Given the description of an element on the screen output the (x, y) to click on. 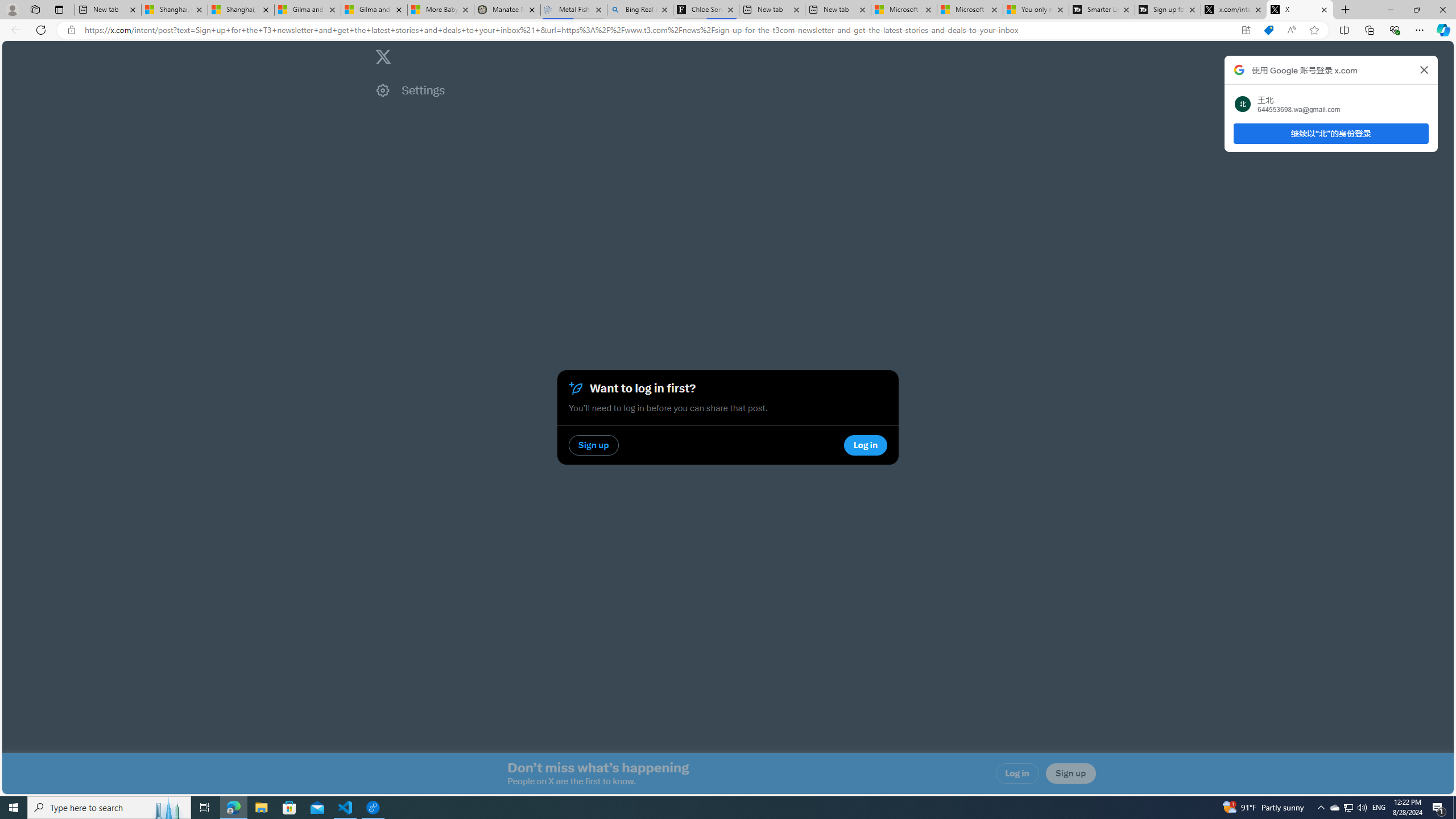
Class: Bz112c Bz112c-r9oPif (1423, 69)
Chloe Sorvino (706, 9)
